Given the description of an element on the screen output the (x, y) to click on. 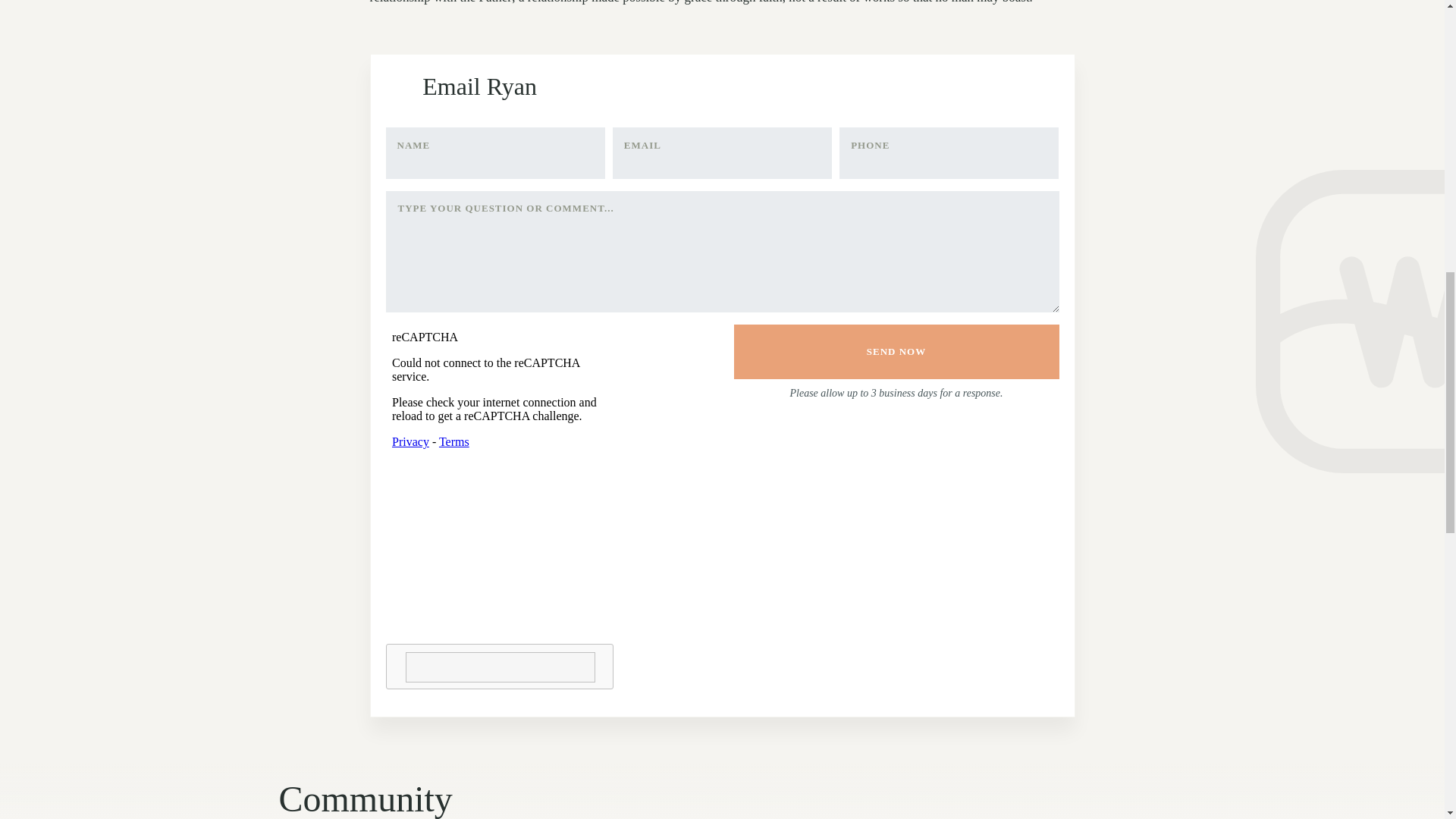
Send Now (896, 351)
